Given the description of an element on the screen output the (x, y) to click on. 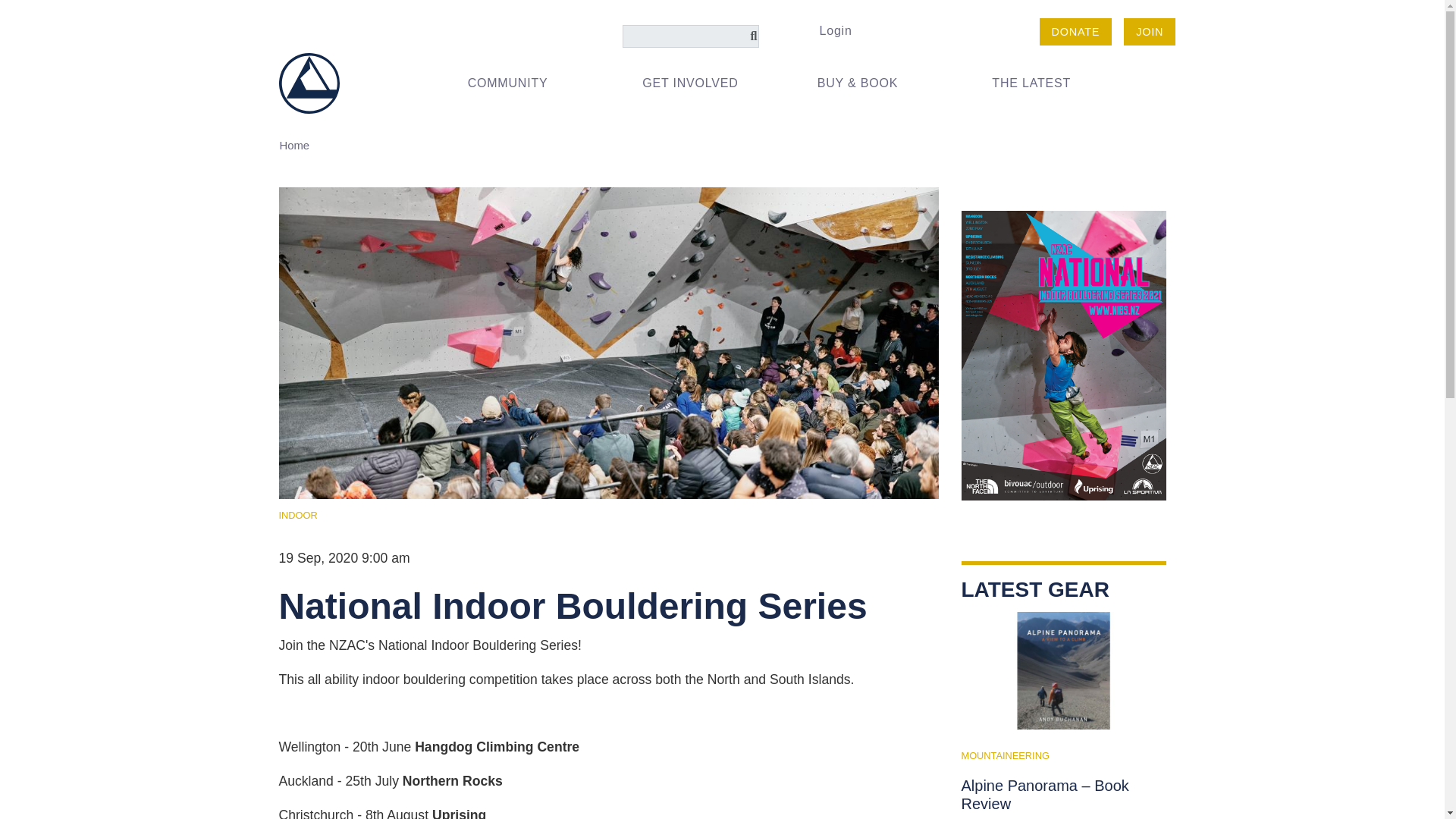
THE LATEST (1045, 82)
Alpine Panorama (1063, 669)
nzac-logo-header (309, 83)
COMMUNITY (522, 82)
Find information about courses, trips and events run by NZAC (696, 82)
GET INVOLVED (696, 82)
Skip to main content (721, 16)
Login (834, 30)
nzac-logo-header (309, 82)
Buy our guidebooks and make hut bookings (871, 82)
Everything you need to know about NZAC and its activities (522, 82)
